Given the description of an element on the screen output the (x, y) to click on. 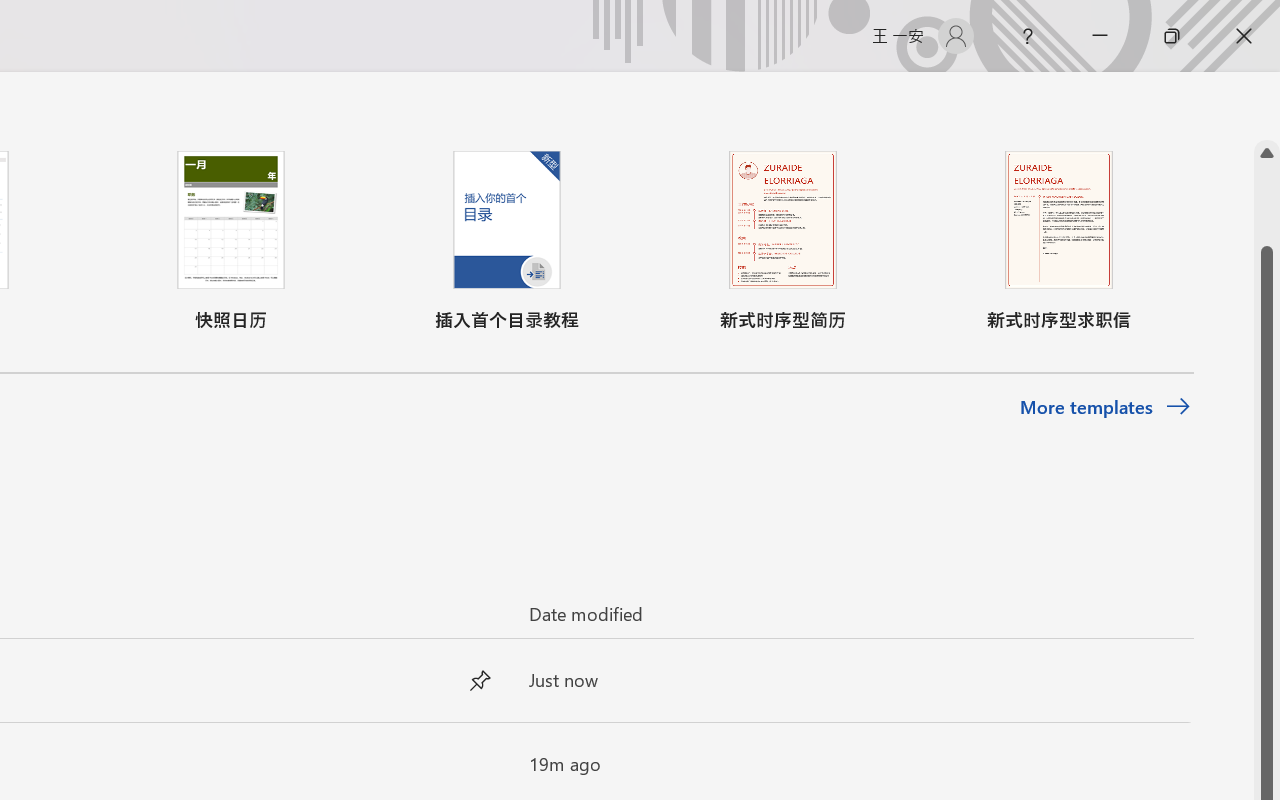
Class: NetUIScrollBar (1267, 106)
